Given the description of an element on the screen output the (x, y) to click on. 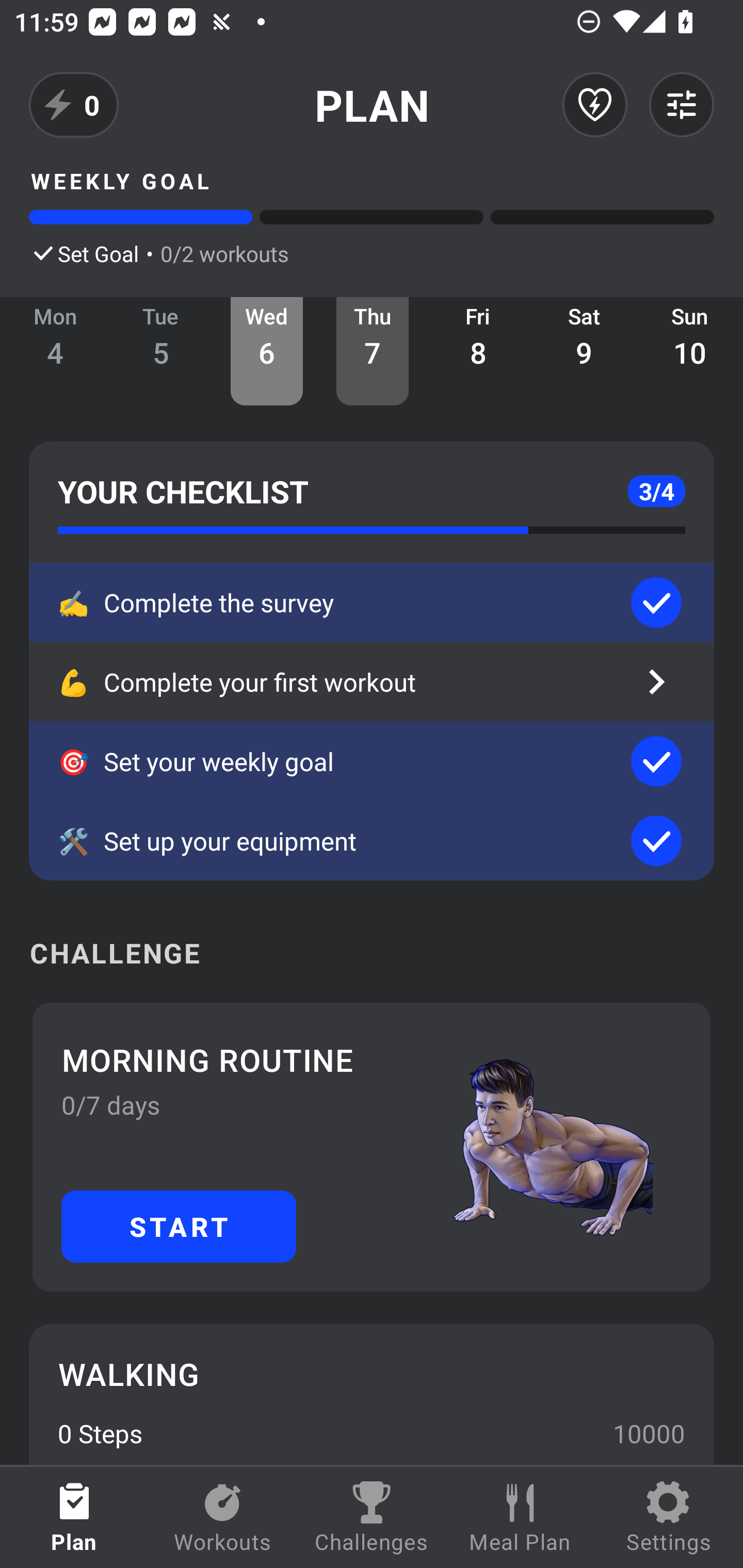
0 (73, 104)
Mon 4 (55, 351)
Tue 5 (160, 351)
Wed 6 (266, 351)
Thu 7 (372, 351)
Fri 8 (478, 351)
Sat 9 (584, 351)
Sun 10 (690, 351)
💪 Complete your first workout (371, 681)
MORNING ROUTINE 0/7 days START (371, 1146)
START (178, 1226)
WALKING 0 Steps 10000 (371, 1393)
 Workouts  (222, 1517)
 Challenges  (371, 1517)
 Meal Plan  (519, 1517)
 Settings  (668, 1517)
